Given the description of an element on the screen output the (x, y) to click on. 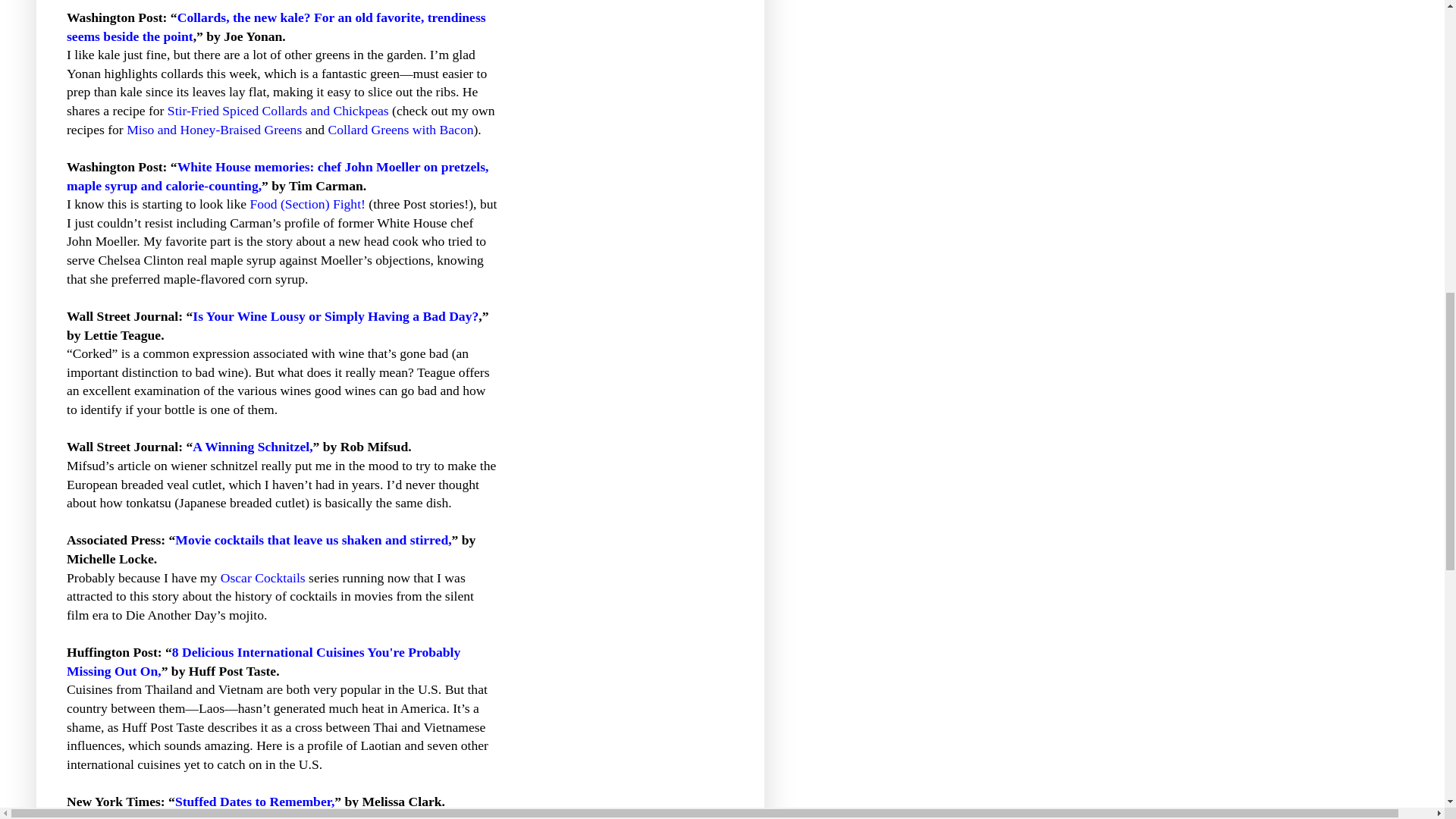
Oscar Cocktails (263, 577)
Collard Greens with Bacon (400, 129)
Stuffed Dates to Remember, (254, 801)
Is Your Wine Lousy or Simply Having a Bad Day? (335, 315)
A Winning Schnitzel, (252, 446)
Stir-Fried Spiced Collards and Chickpeas (277, 110)
Movie cocktails that leave us shaken and stirred, (312, 539)
Miso and Honey-Braised Greens (213, 129)
